Given the description of an element on the screen output the (x, y) to click on. 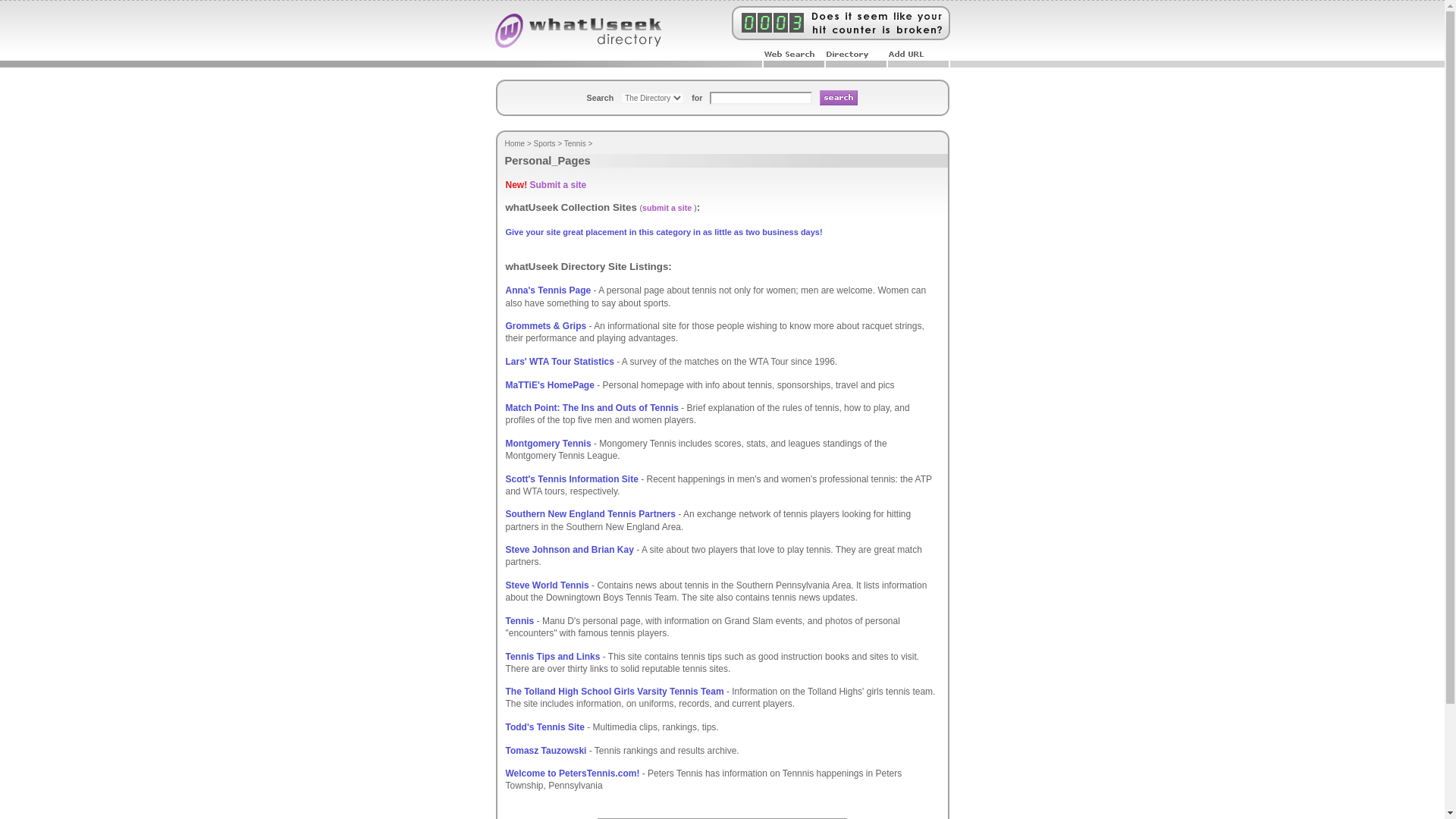
Tomasz Tauzowski (545, 750)
Sports (545, 143)
Tennis (575, 143)
Submit a site (557, 184)
Welcome to PetersTennis.com! (572, 773)
Match Point: The Ins and Outs of Tennis (591, 407)
Tennis Tips and Links (552, 655)
Montgomery Tennis (548, 443)
submit a site (666, 207)
